Given the description of an element on the screen output the (x, y) to click on. 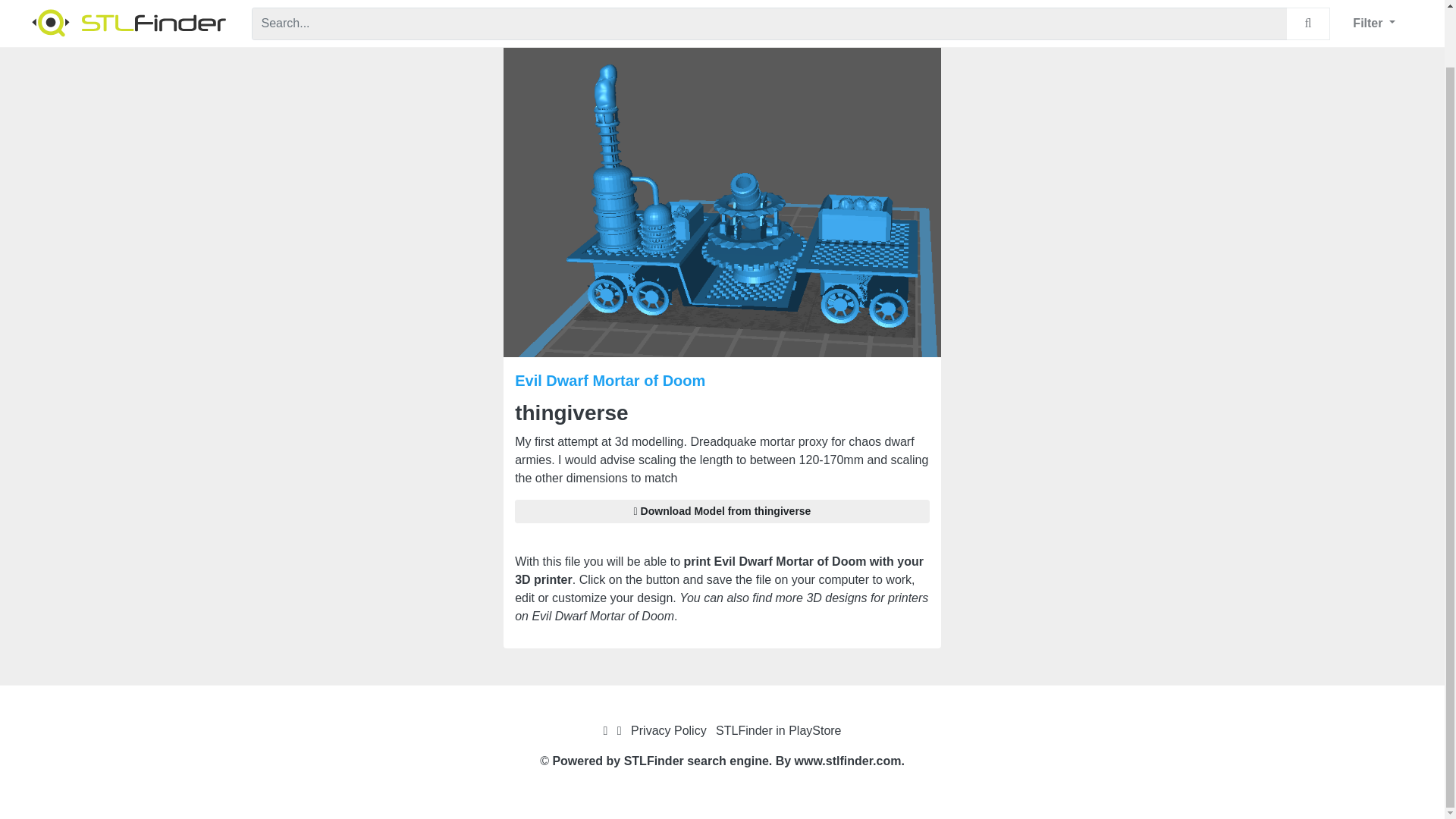
Privacy Policy (668, 730)
STLFinder in PlayStore (778, 730)
Download Model from thingiverse (722, 511)
www.stlfinder.com (847, 760)
